Given the description of an element on the screen output the (x, y) to click on. 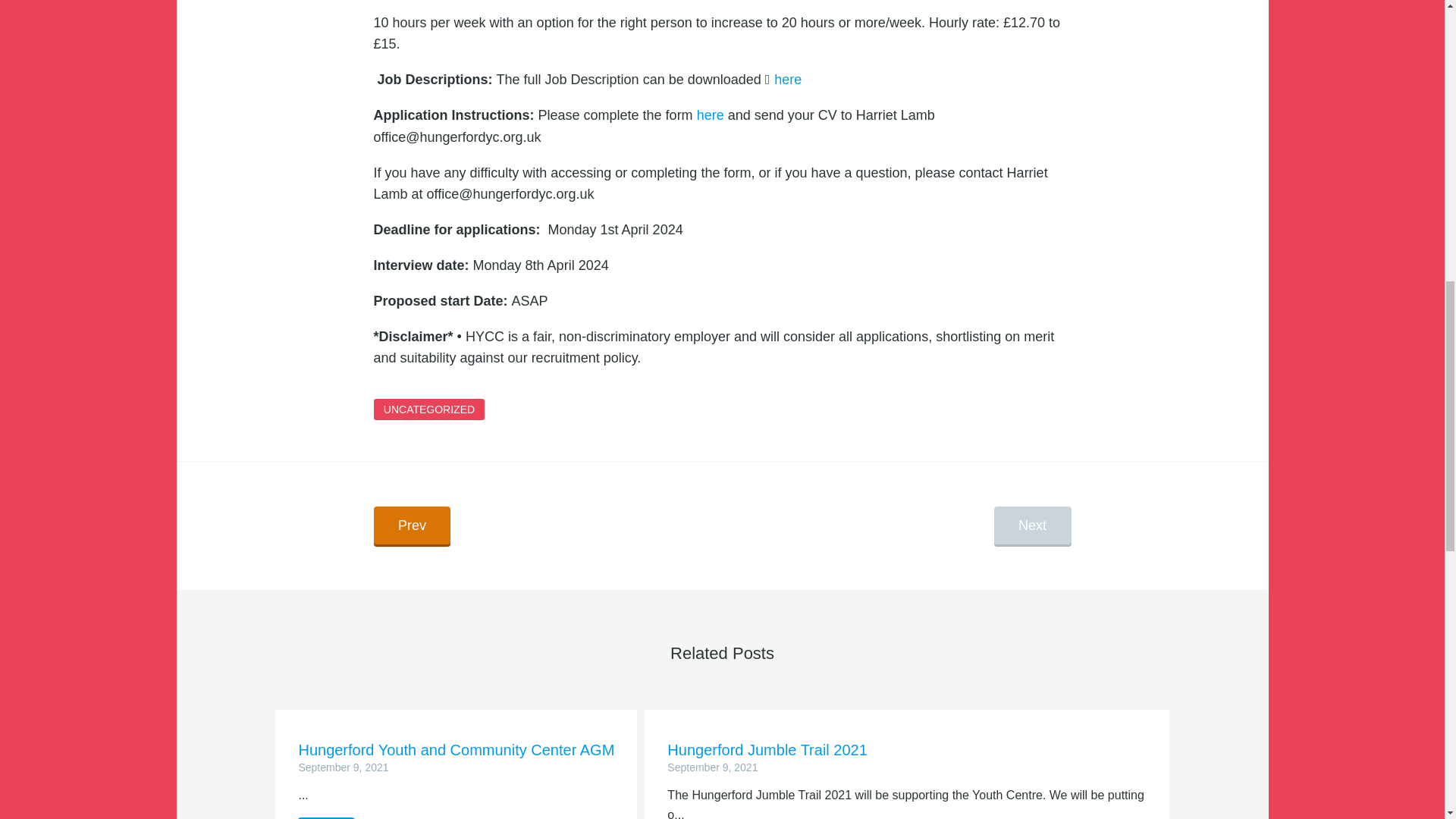
More (326, 818)
Prev (410, 526)
UNCATEGORIZED (428, 409)
Hungerford Youth and Community Center AGM (326, 818)
her (456, 756)
Hungerford Jumble Trail 2021 (706, 114)
here (905, 756)
Hungerford Youth and Community Center AGM (905, 756)
